Given the description of an element on the screen output the (x, y) to click on. 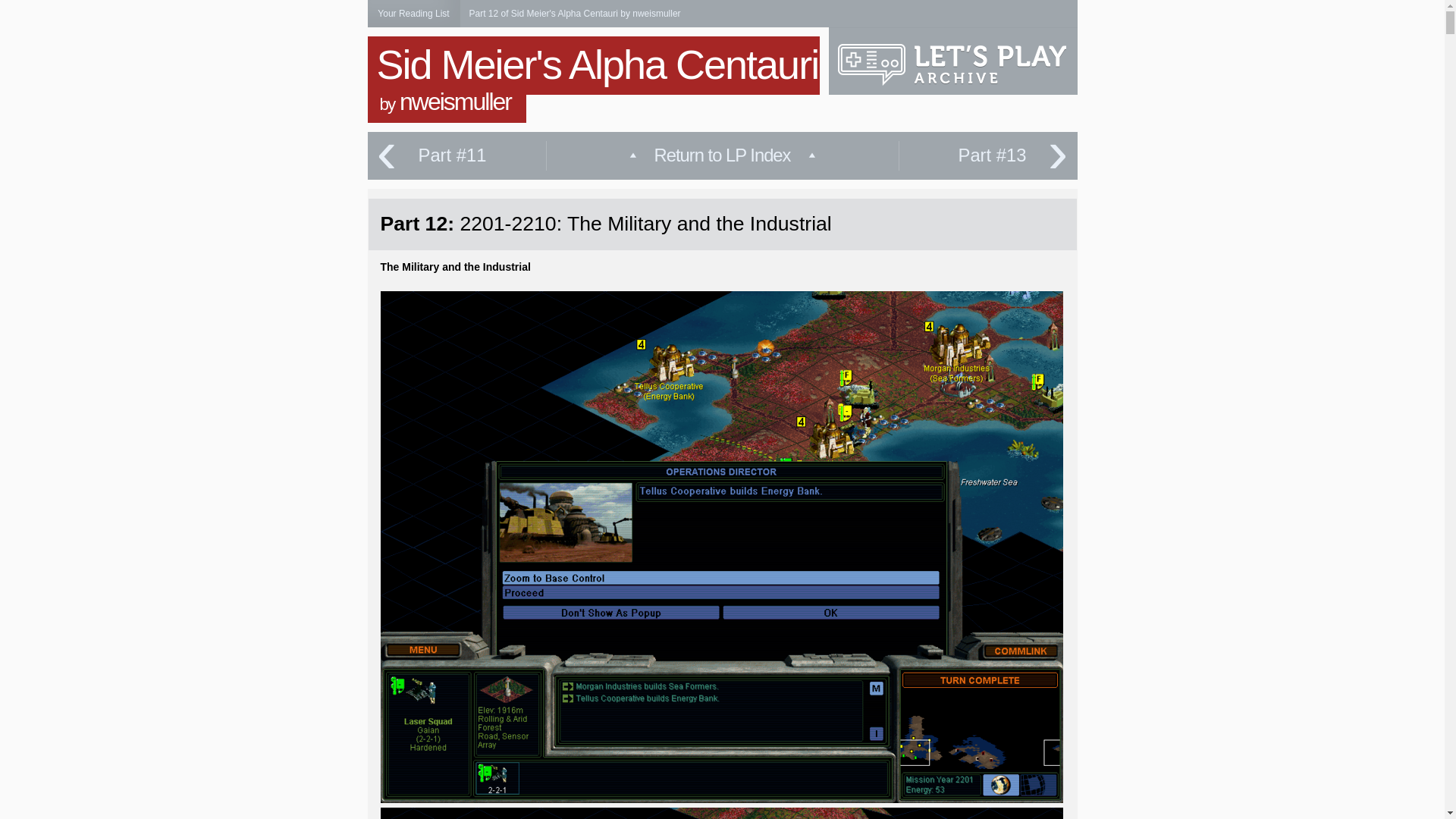
Click to expand and view your full reading list (413, 13)
Part 12 of Sid Meier's Alpha Centauri by nweismuller (573, 13)
nweismuller (454, 101)
